Given the description of an element on the screen output the (x, y) to click on. 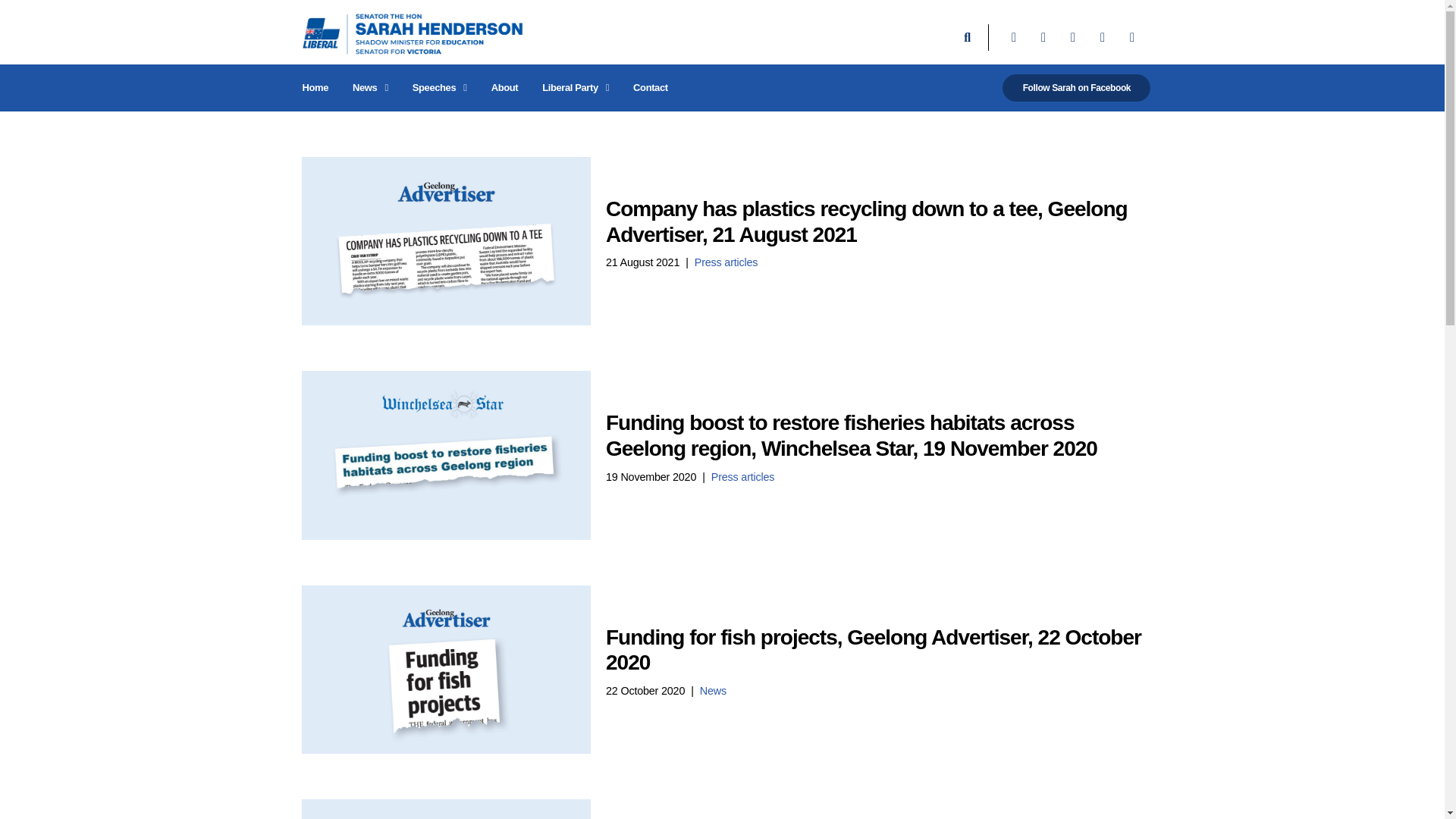
Grants to aid land, Geelong Advertiser, 16 October 2020 (446, 809)
Liberal Party (575, 87)
News (370, 87)
Speeches (439, 87)
Contact (650, 87)
Skip to content (11, 31)
Home (314, 87)
